Given the description of an element on the screen output the (x, y) to click on. 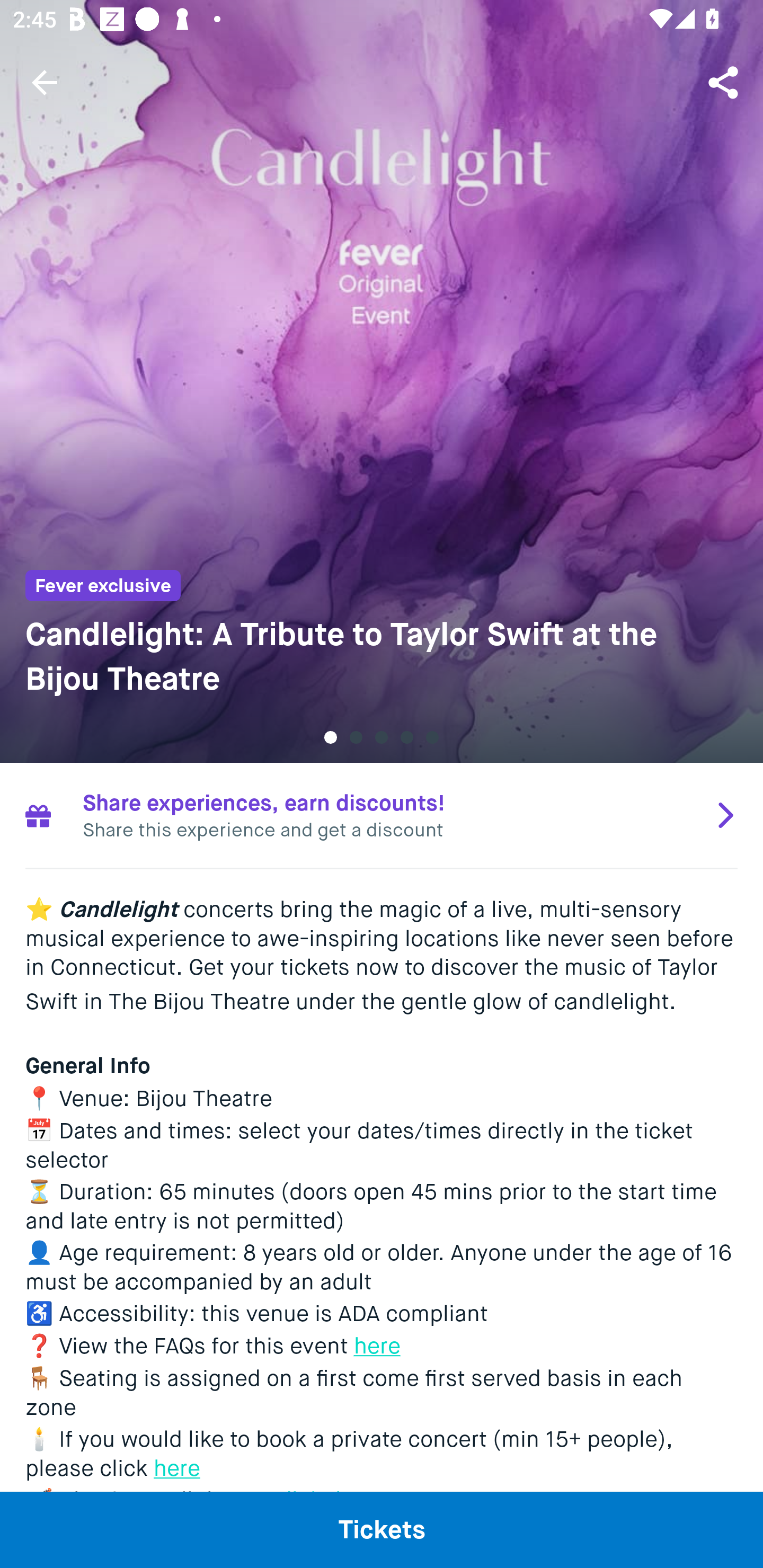
Navigate up (44, 82)
Share (724, 81)
Tickets (381, 1529)
